Given the description of an element on the screen output the (x, y) to click on. 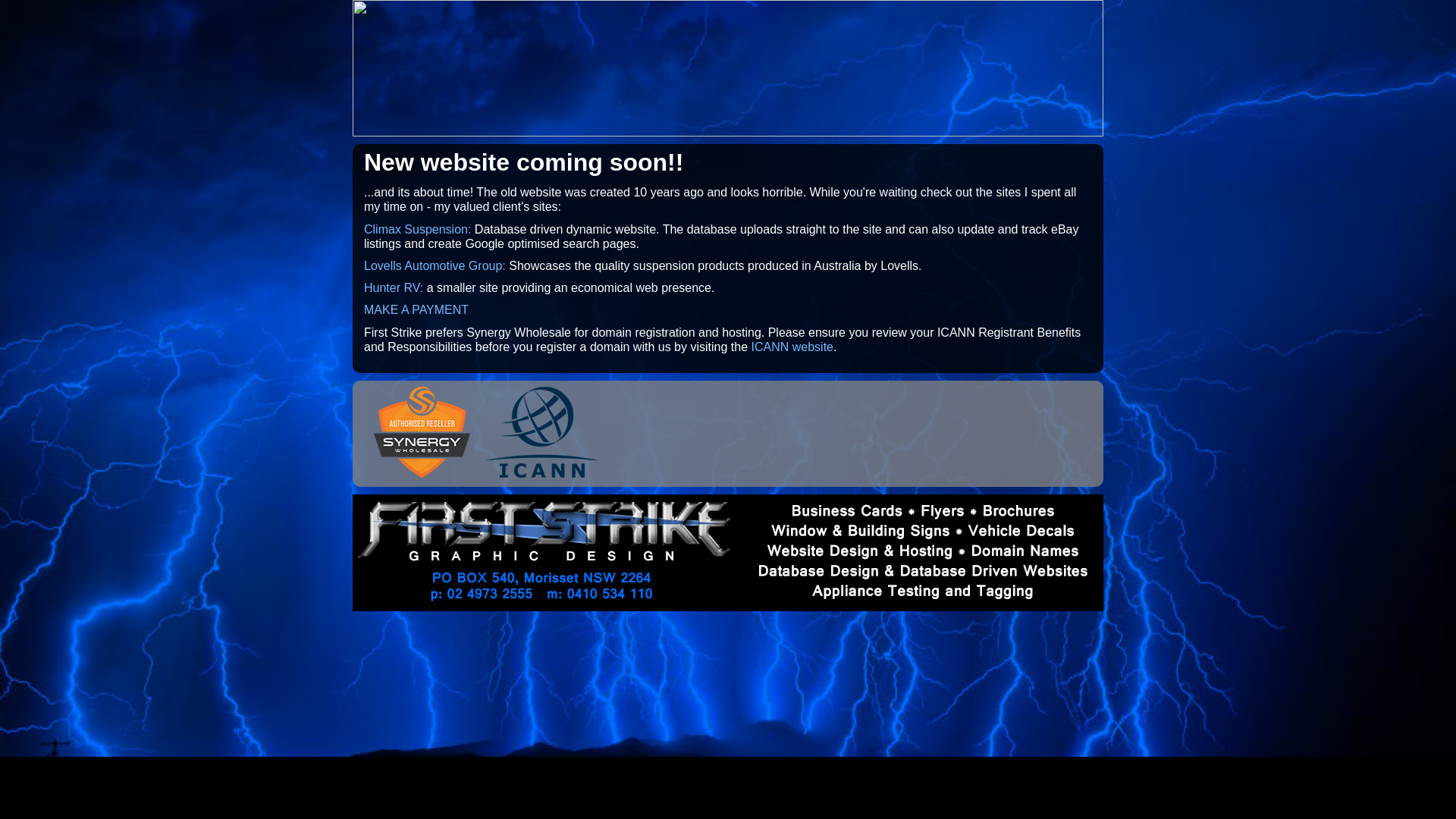
Lovells Automotive Group: Element type: text (434, 265)
ICANN website Element type: text (791, 346)
Hunter RV: Element type: text (393, 287)
MAKE A PAYMENT Element type: text (416, 309)
Climax Suspension: Element type: text (417, 228)
